Given the description of an element on the screen output the (x, y) to click on. 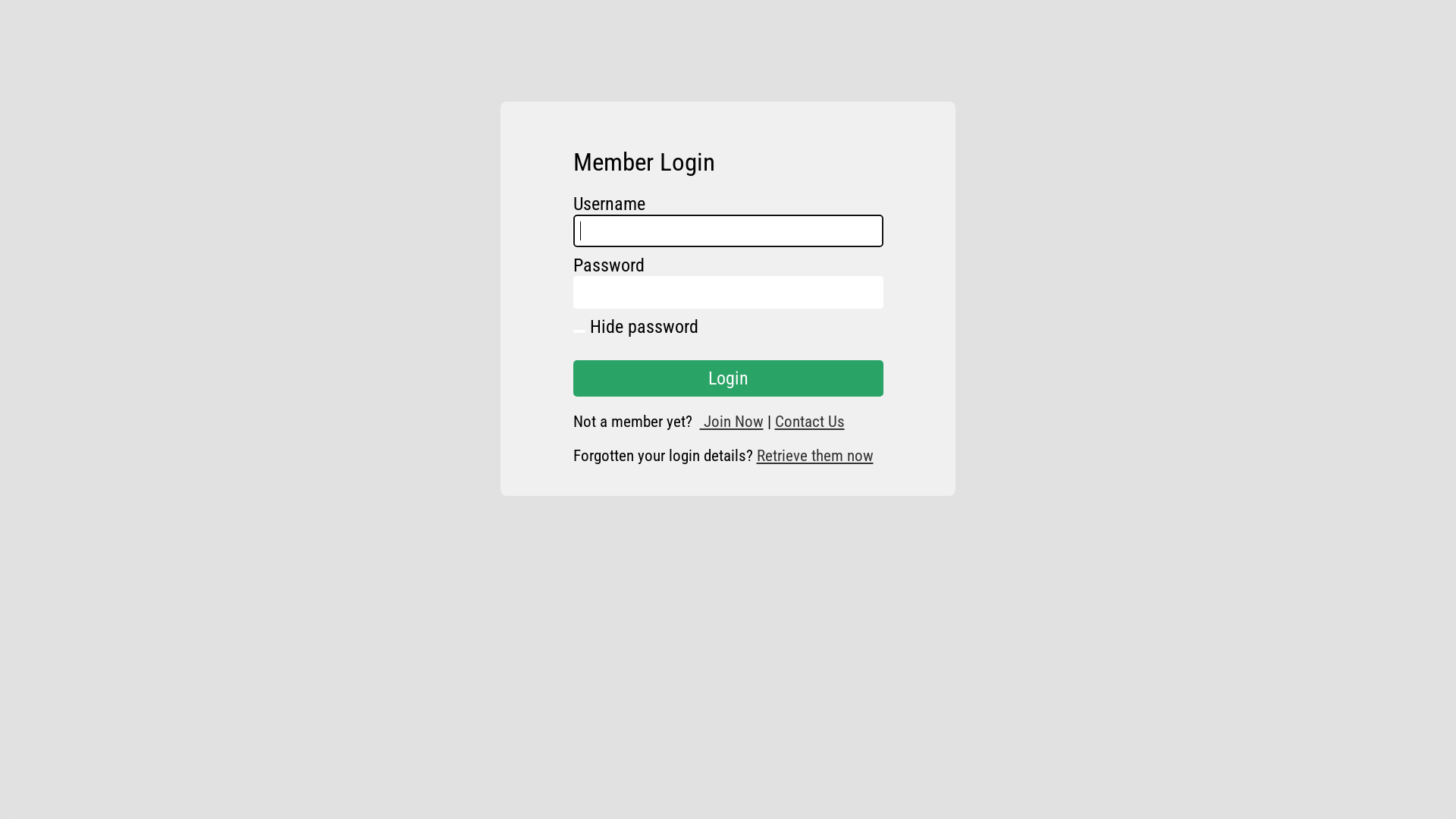
Contact Us Element type: text (809, 421)
Retrieve them now Element type: text (814, 455)
Login Element type: text (728, 378)
Join Now Element type: text (730, 421)
